Given the description of an element on the screen output the (x, y) to click on. 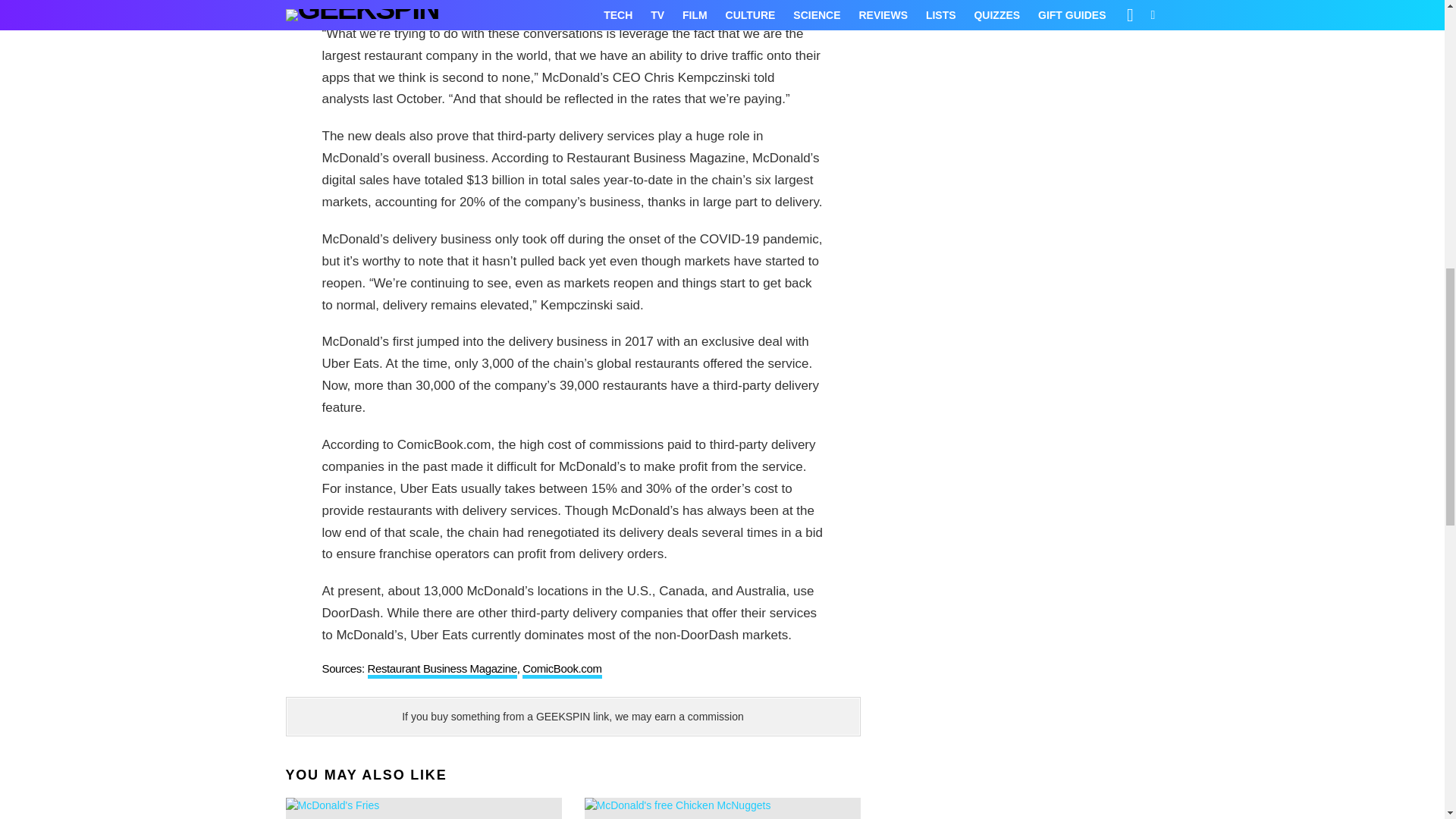
Restaurant Business Magazine (441, 669)
ComicBook.com (561, 669)
